Given the description of an element on the screen output the (x, y) to click on. 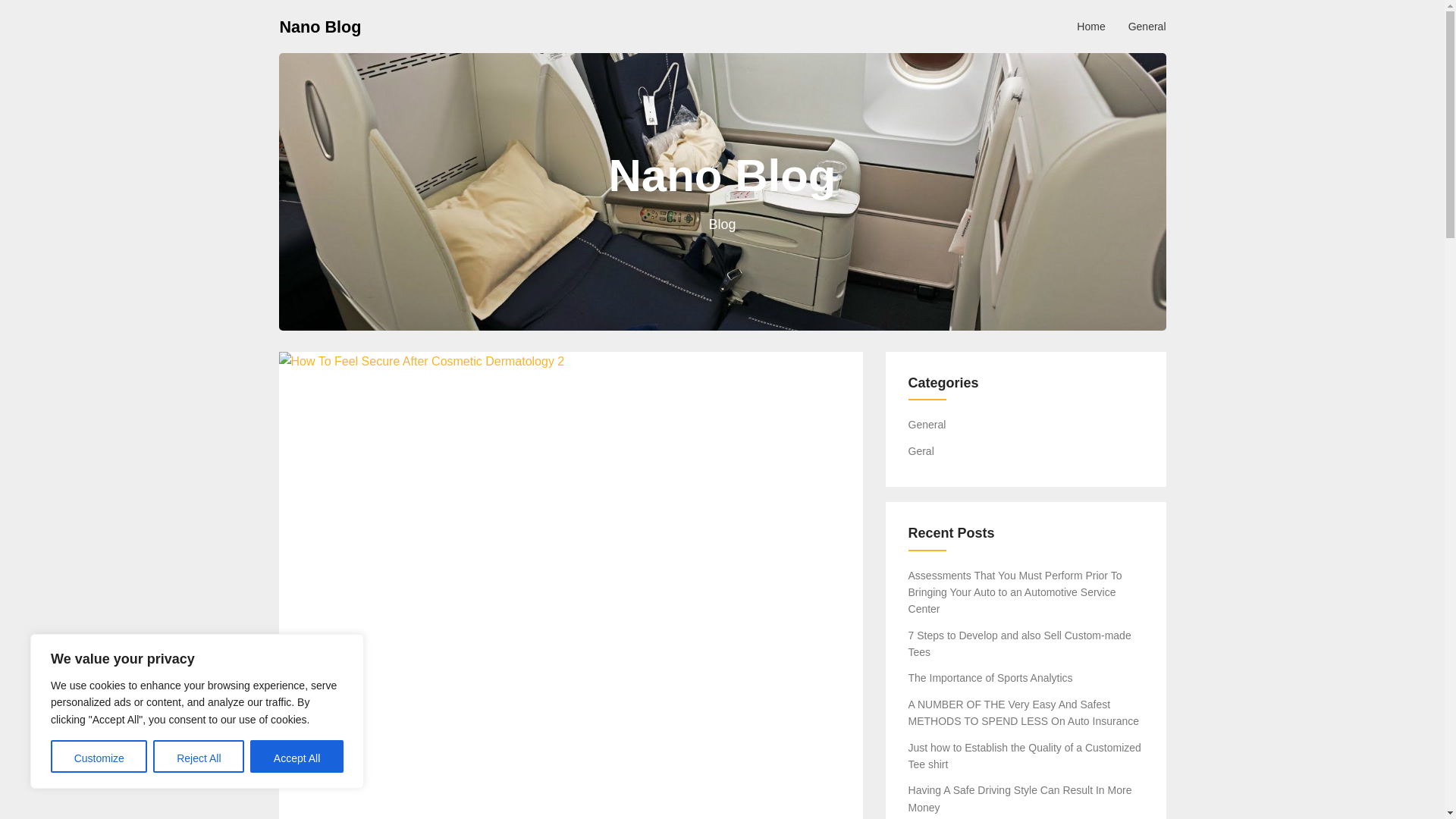
Customize (98, 756)
Home (1090, 26)
Reject All (198, 756)
Nano Blog (320, 26)
General (1146, 26)
General (927, 424)
Geral (921, 451)
The Importance of Sports Analytics (990, 677)
Accept All (296, 756)
